Given the description of an element on the screen output the (x, y) to click on. 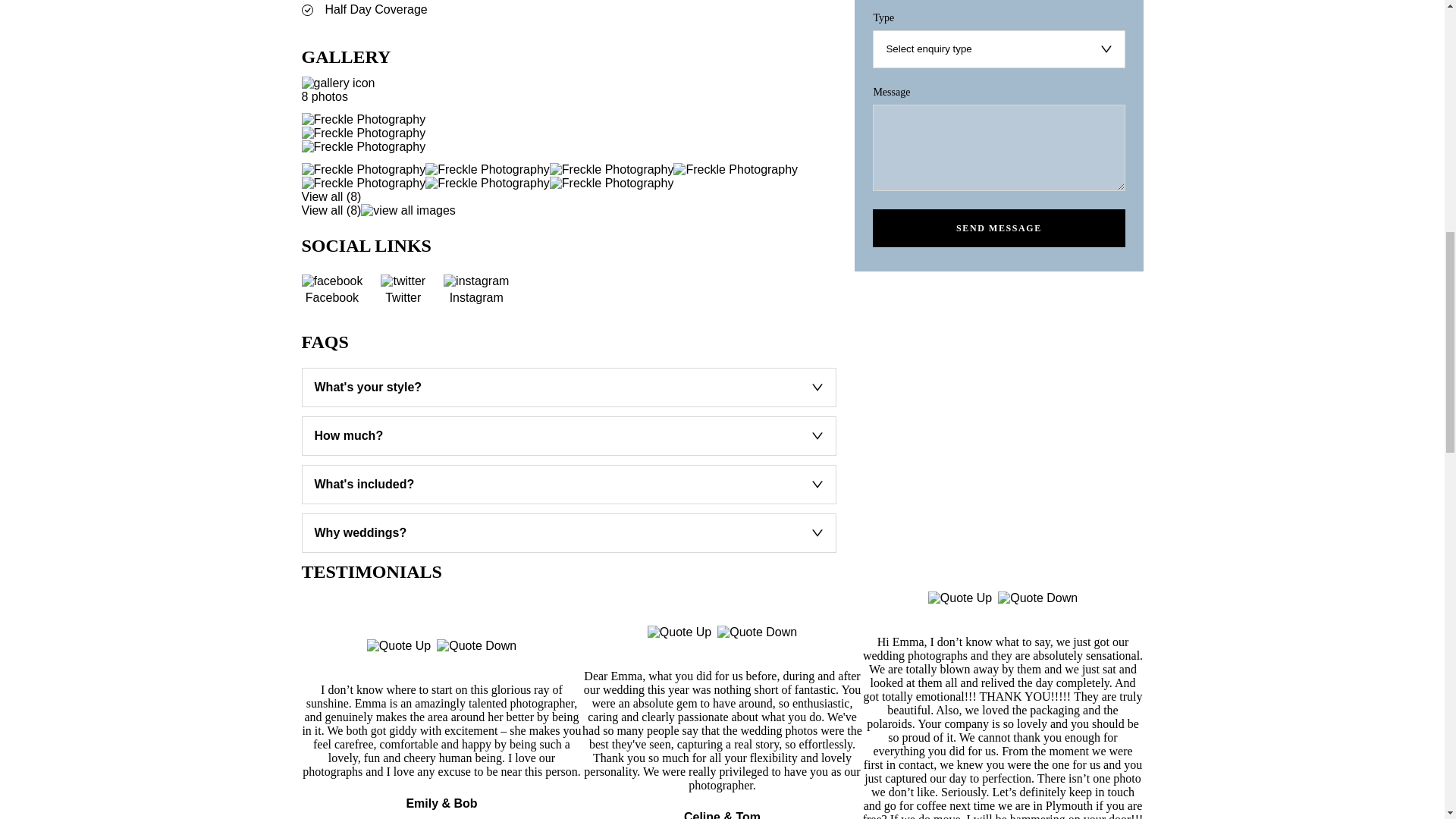
Instagram (476, 289)
What's included? (569, 484)
Twitter (402, 289)
What's your style? (569, 387)
Facebook (331, 289)
How much? (569, 435)
